Given the description of an element on the screen output the (x, y) to click on. 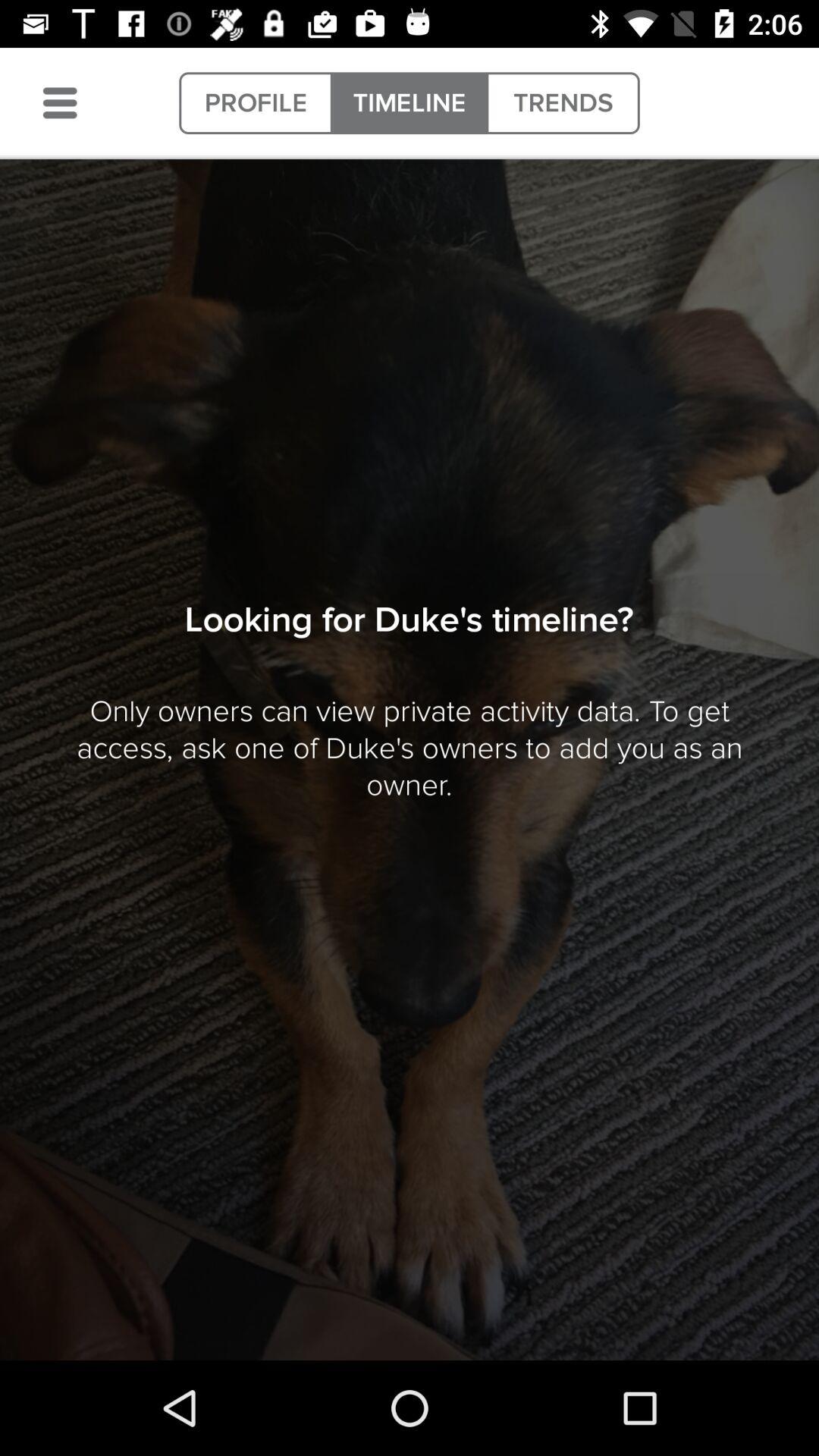
launch icon to the left of the profile icon (60, 103)
